Given the description of an element on the screen output the (x, y) to click on. 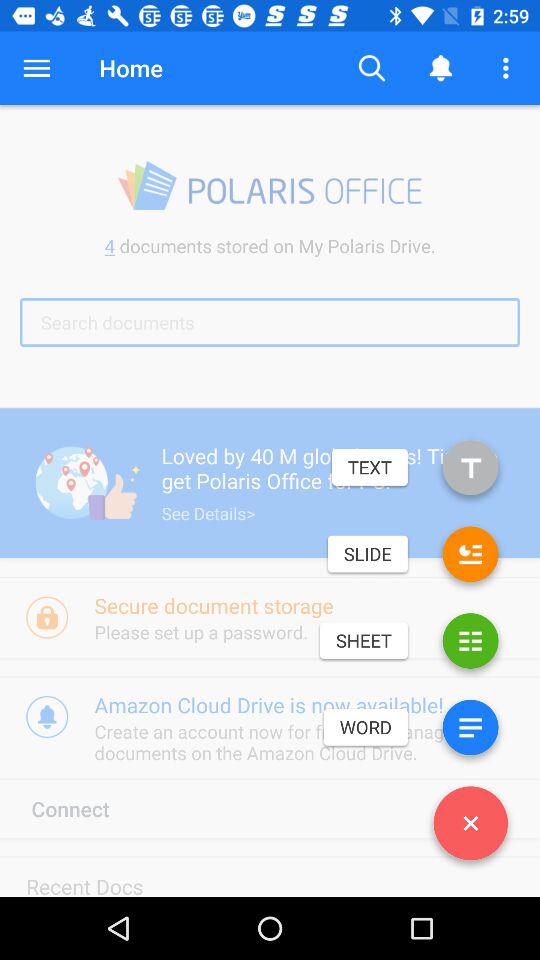
open word app (470, 731)
